Given the description of an element on the screen output the (x, y) to click on. 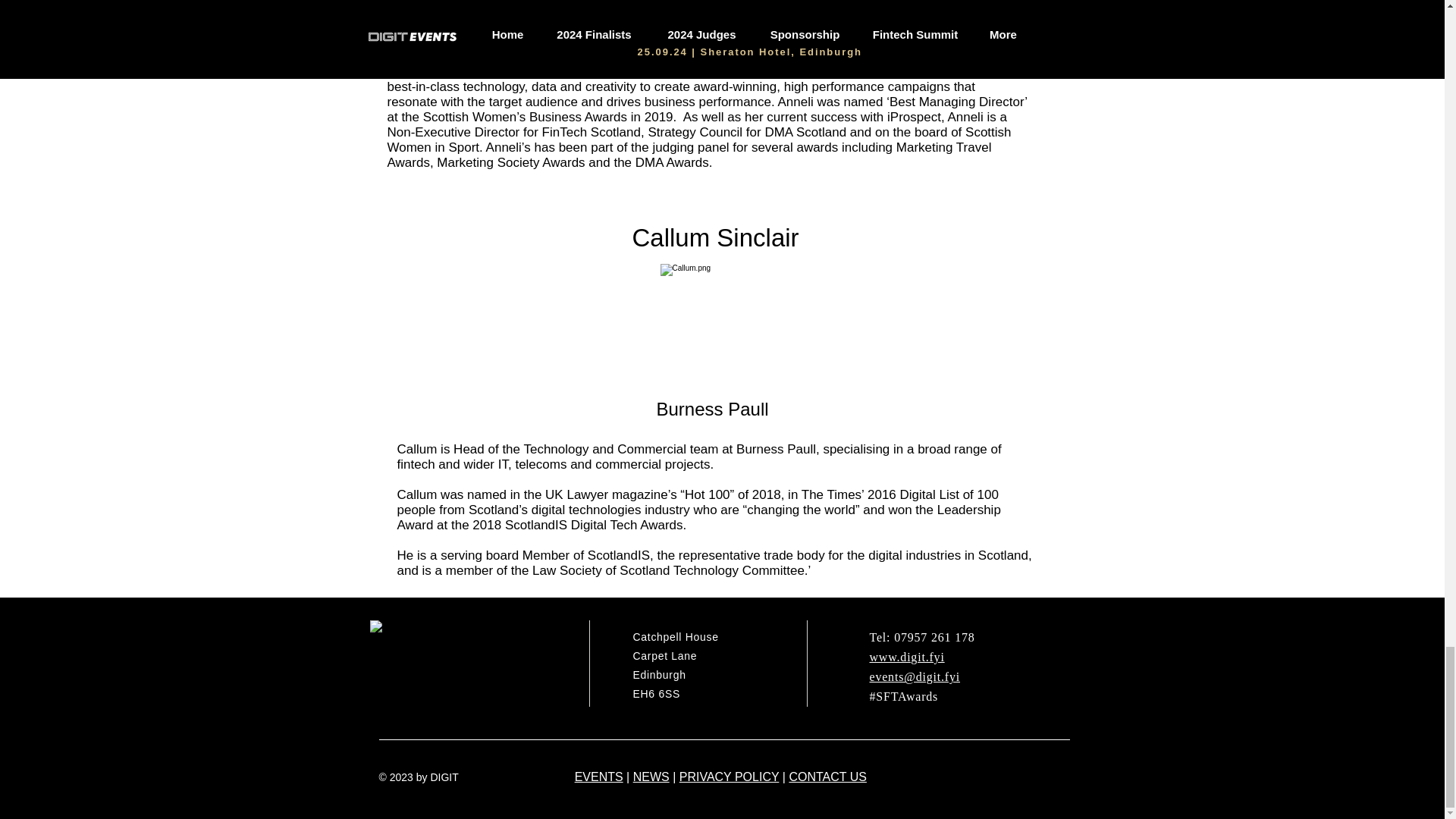
www.digit.fyi (906, 657)
PRIVACY POLICY (728, 776)
CONTACT US (827, 776)
EVENTS (599, 776)
